Given the description of an element on the screen output the (x, y) to click on. 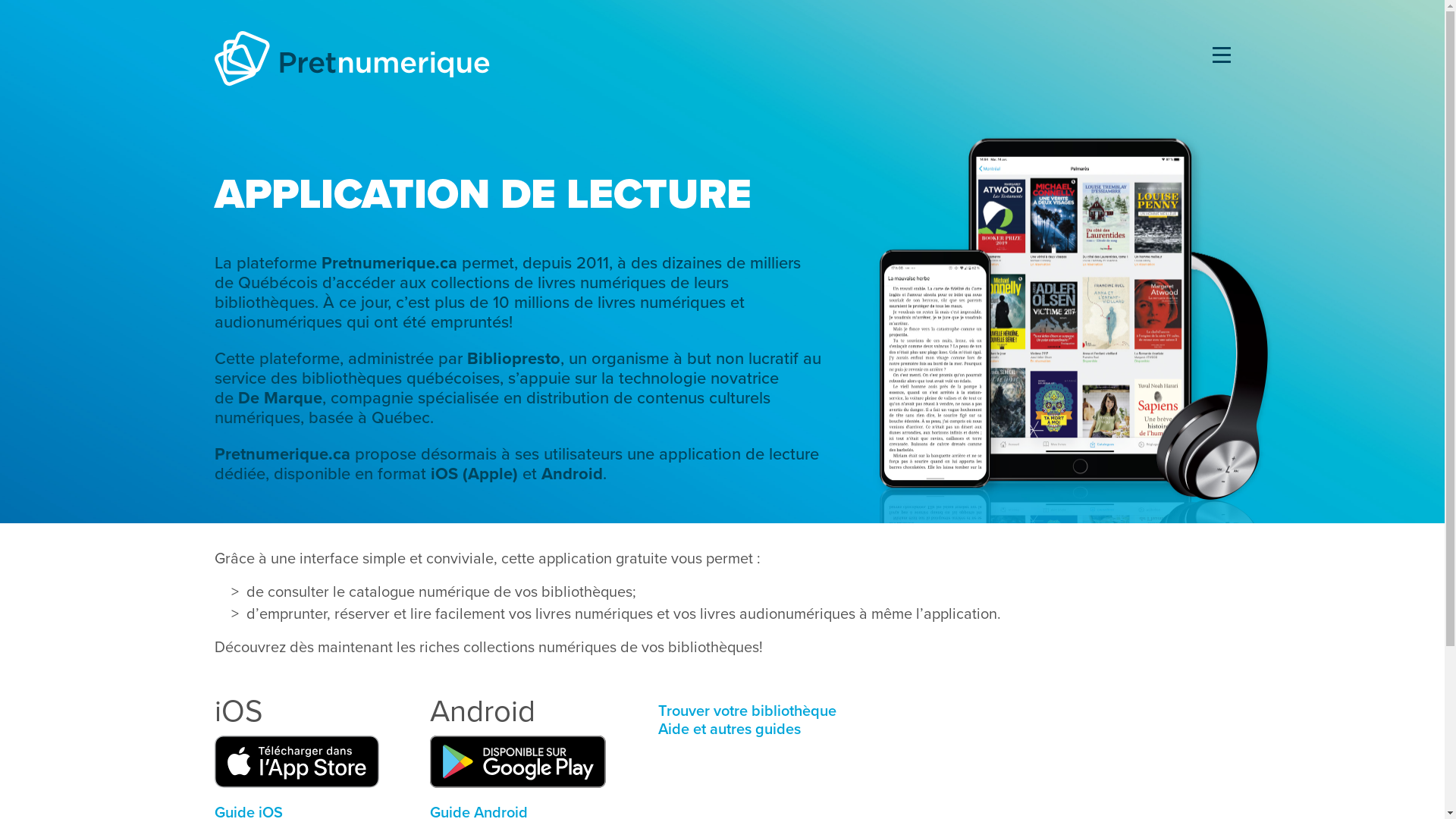
De Marque Element type: text (280, 397)
Aide et autres guides Element type: text (729, 729)
Pretnumerique.ca Element type: text (281, 454)
Android Element type: text (571, 473)
Pretnumerique.ca Element type: text (389, 263)
iOS (Apple) Element type: text (473, 473)
Bibliopresto Element type: text (513, 358)
